Given the description of an element on the screen output the (x, y) to click on. 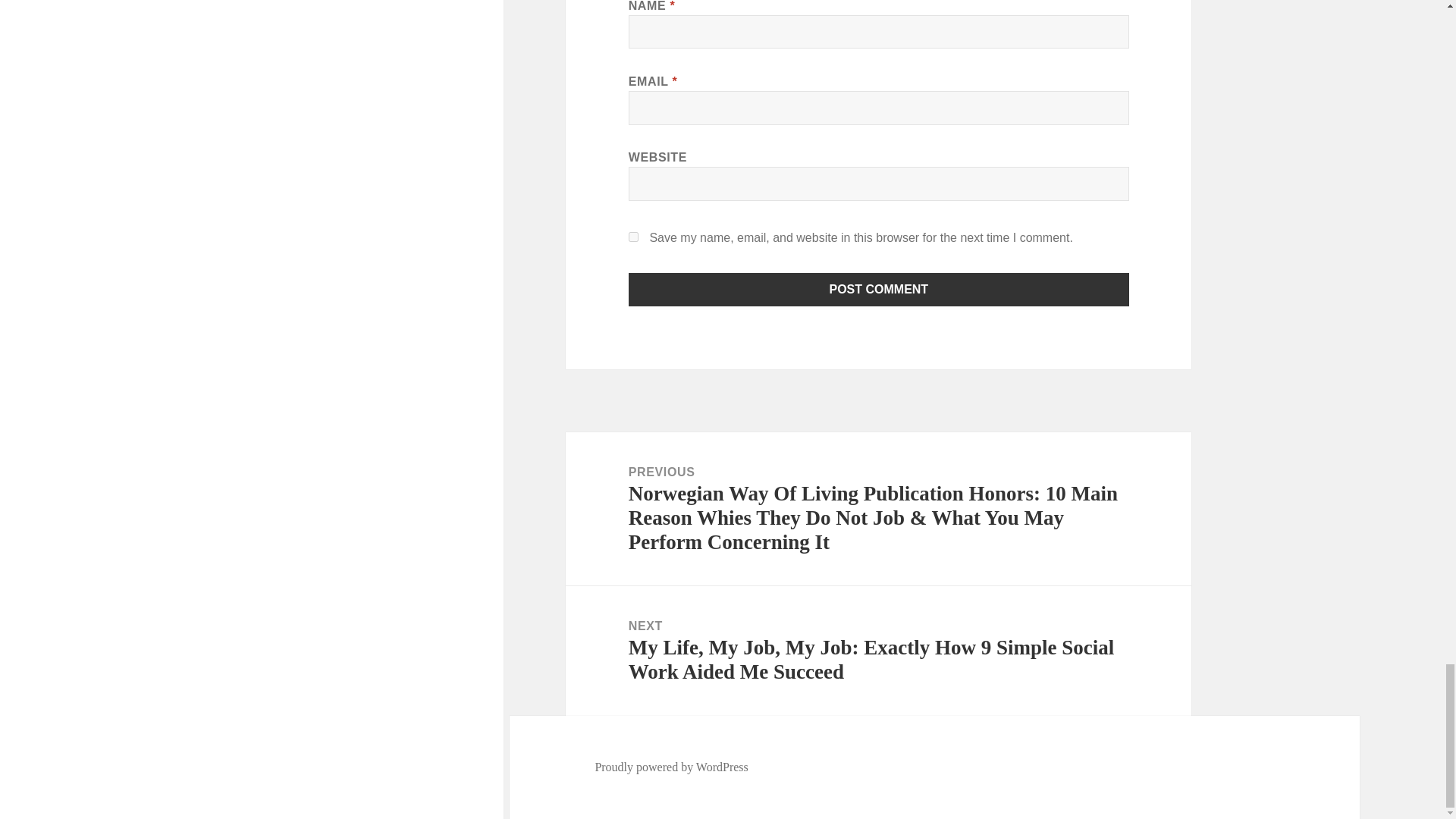
yes (633, 236)
Post Comment (878, 289)
Proudly powered by WordPress (671, 766)
Post Comment (878, 289)
